Given the description of an element on the screen output the (x, y) to click on. 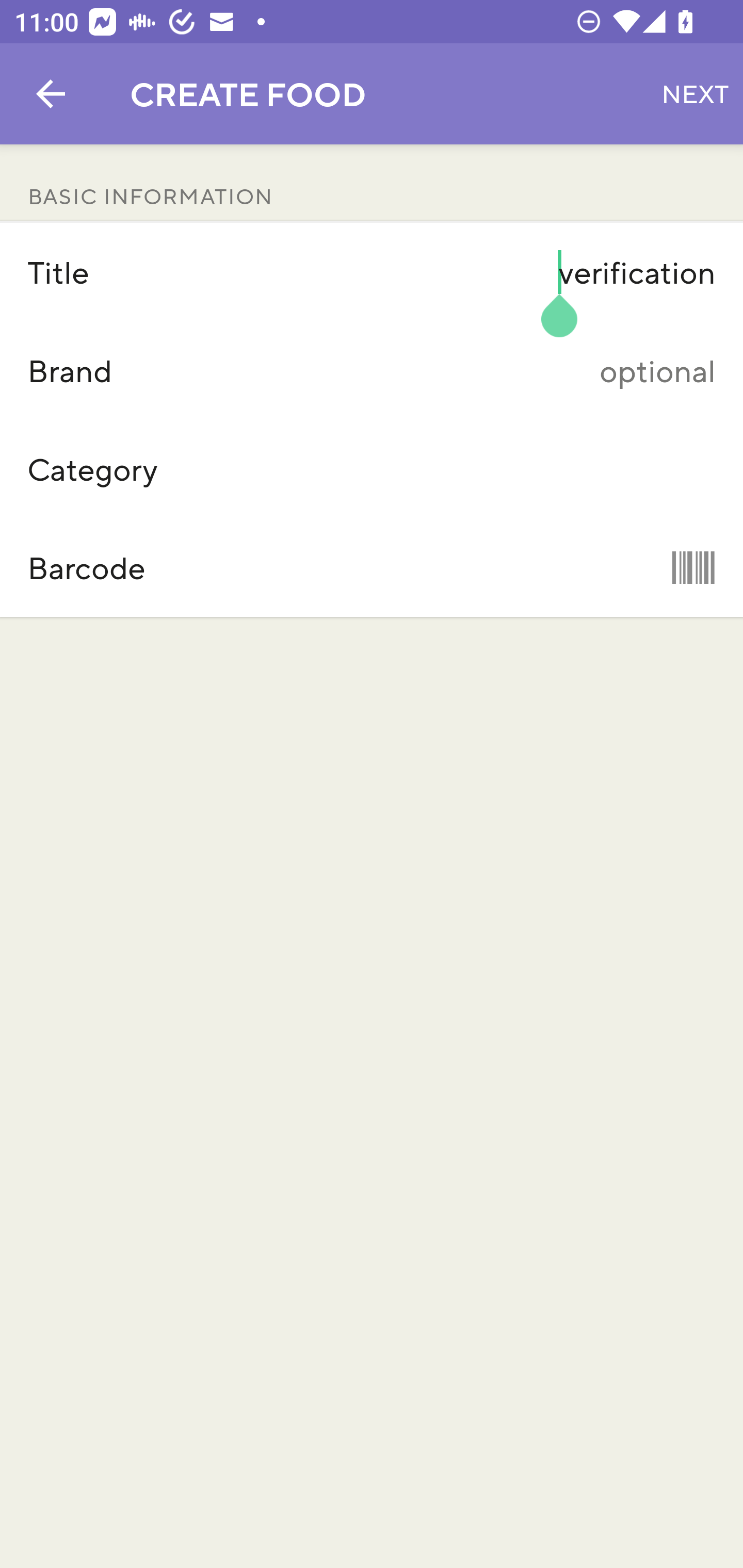
Navigate up (50, 93)
NEXT (695, 93)
verification (474, 271)
optional (474, 370)
Category (371, 469)
Barcode (371, 567)
